Given the description of an element on the screen output the (x, y) to click on. 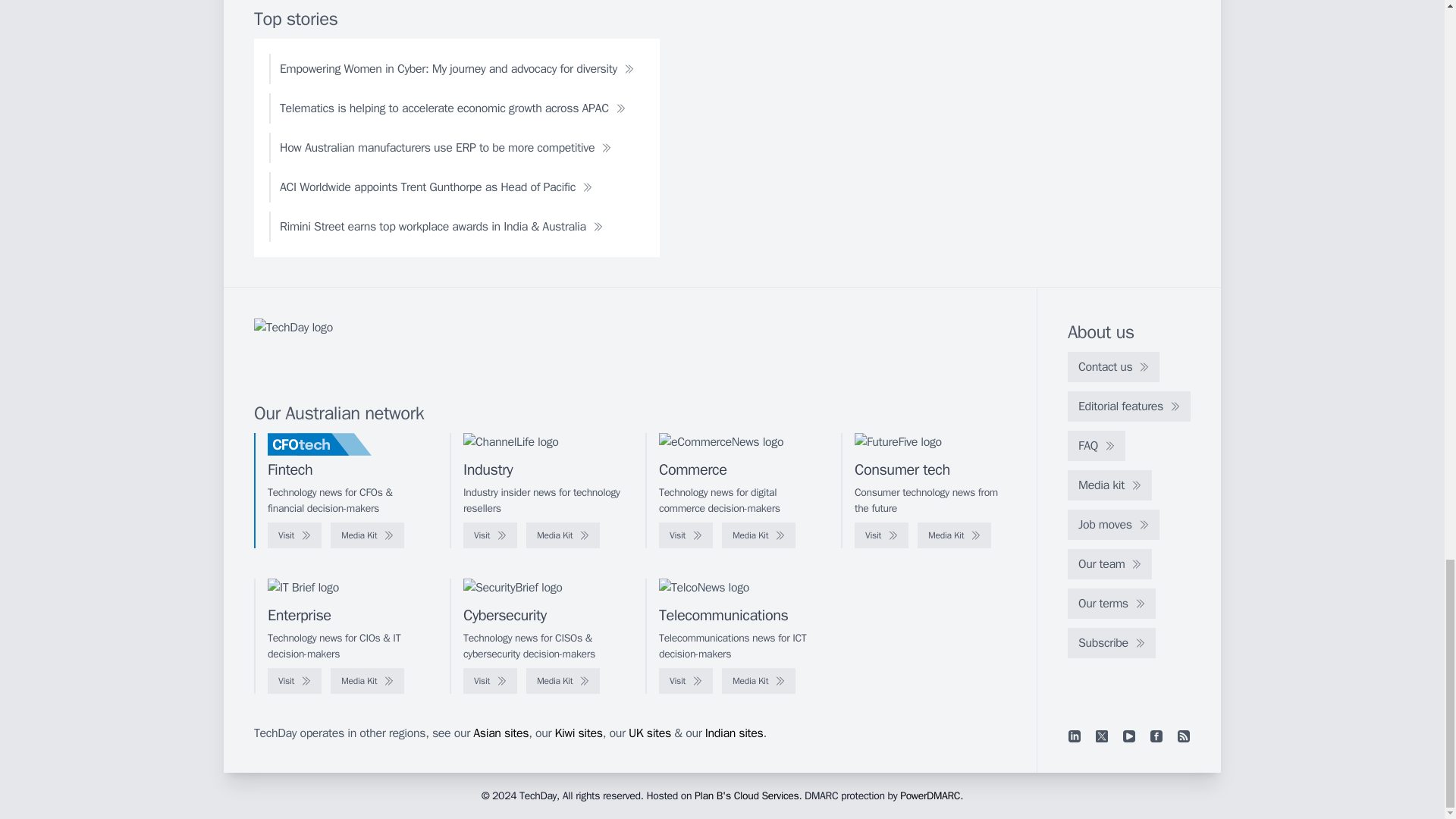
Media Kit (954, 534)
Visit (294, 534)
Visit (489, 534)
ACI Worldwide appoints Trent Gunthorpe as Head of Pacific (435, 186)
Media Kit (562, 534)
Media Kit (758, 534)
Media Kit (367, 534)
Visit (686, 534)
